Given the description of an element on the screen output the (x, y) to click on. 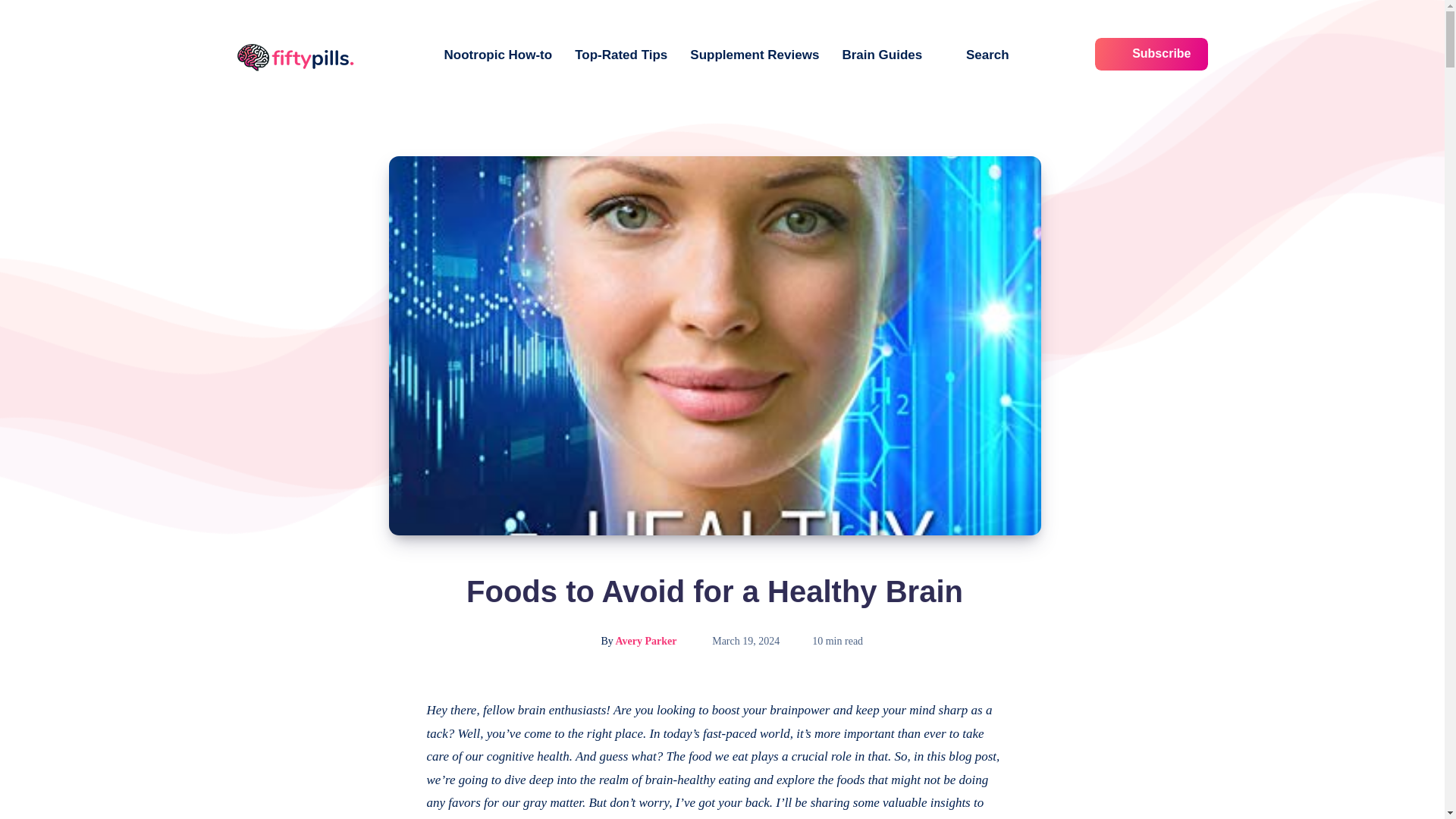
Brain Guides (881, 54)
Search (976, 54)
Share on Twitter (388, 744)
Share on Pinterest (388, 778)
Subscribe (1151, 53)
Share on Telegram (388, 808)
Top-Rated Tips (620, 54)
Supplement Reviews (754, 54)
By Avery Parker (622, 641)
Share on Facebook (388, 710)
